Given the description of an element on the screen output the (x, y) to click on. 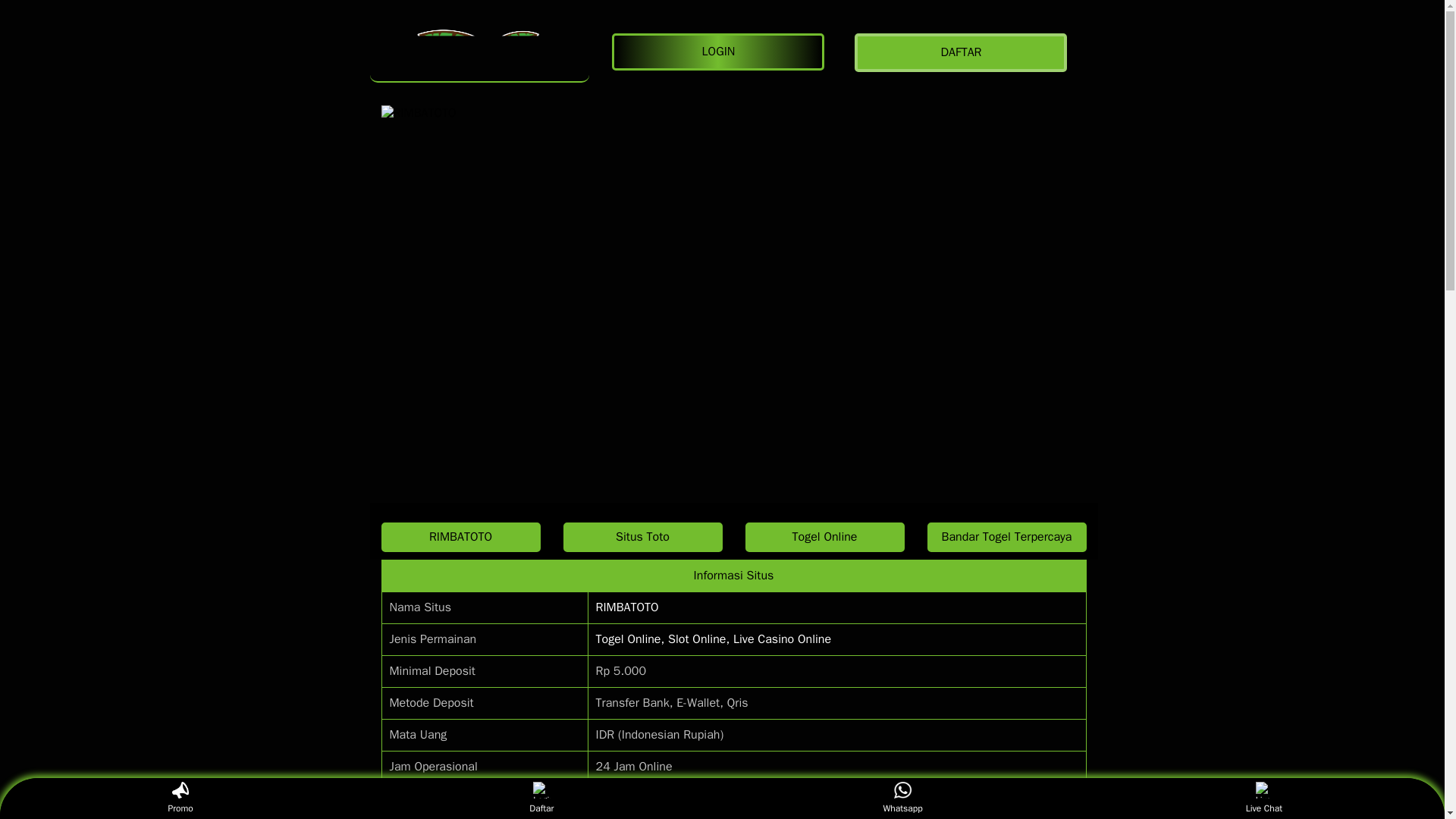
LOGIN (721, 51)
Togel Online (824, 537)
Togel Online (824, 537)
RIMBATOTO (479, 52)
Live Chat (1263, 797)
Whatsapp (903, 797)
Bandar Togel Terpercaya (1006, 537)
Situs Toto (642, 537)
Situs Toto (642, 537)
Togel Online, Slot Online, Live Casino Online (713, 639)
